Given the description of an element on the screen output the (x, y) to click on. 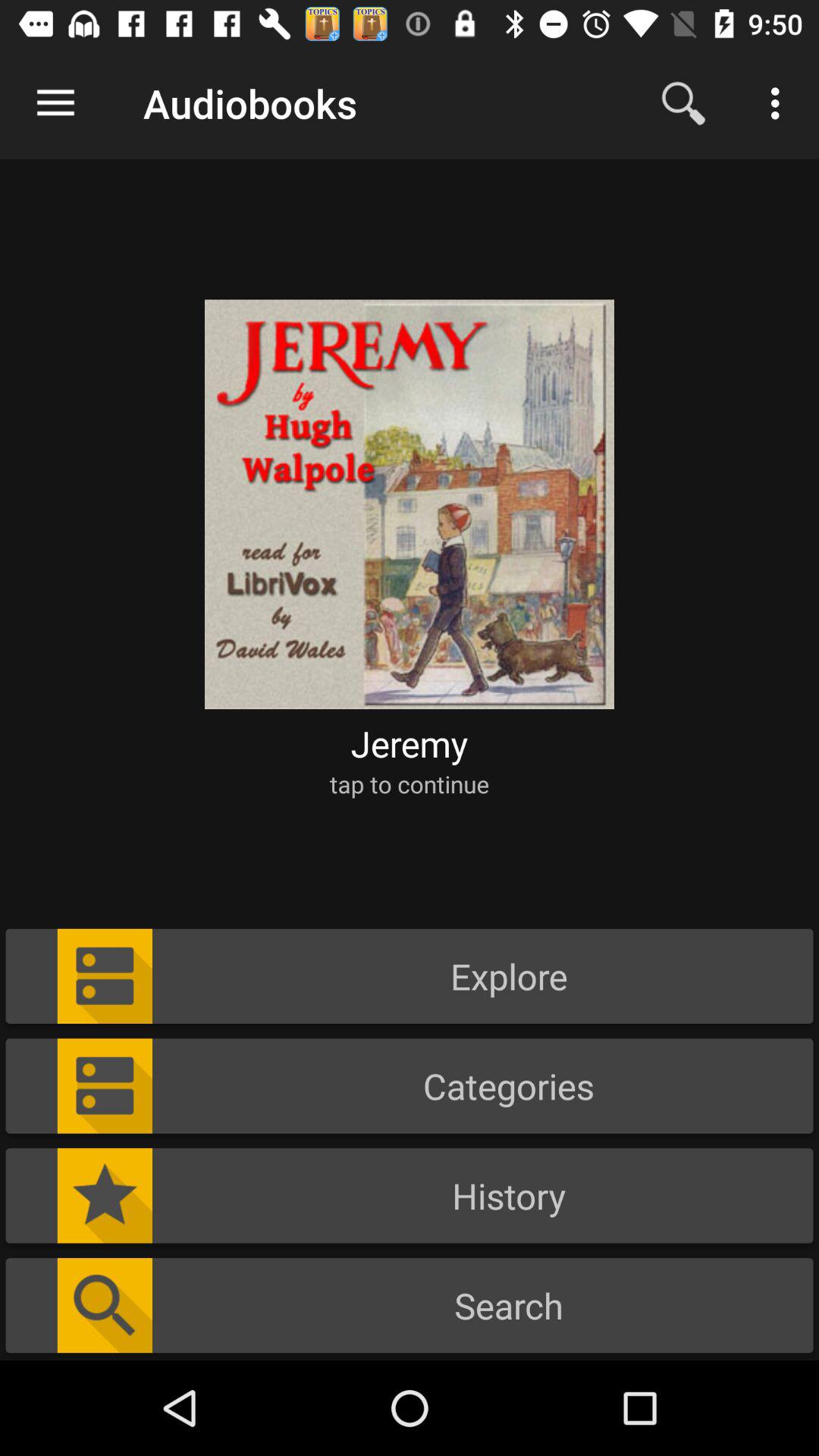
tap the icon above the tap to continue item (409, 743)
